Given the description of an element on the screen output the (x, y) to click on. 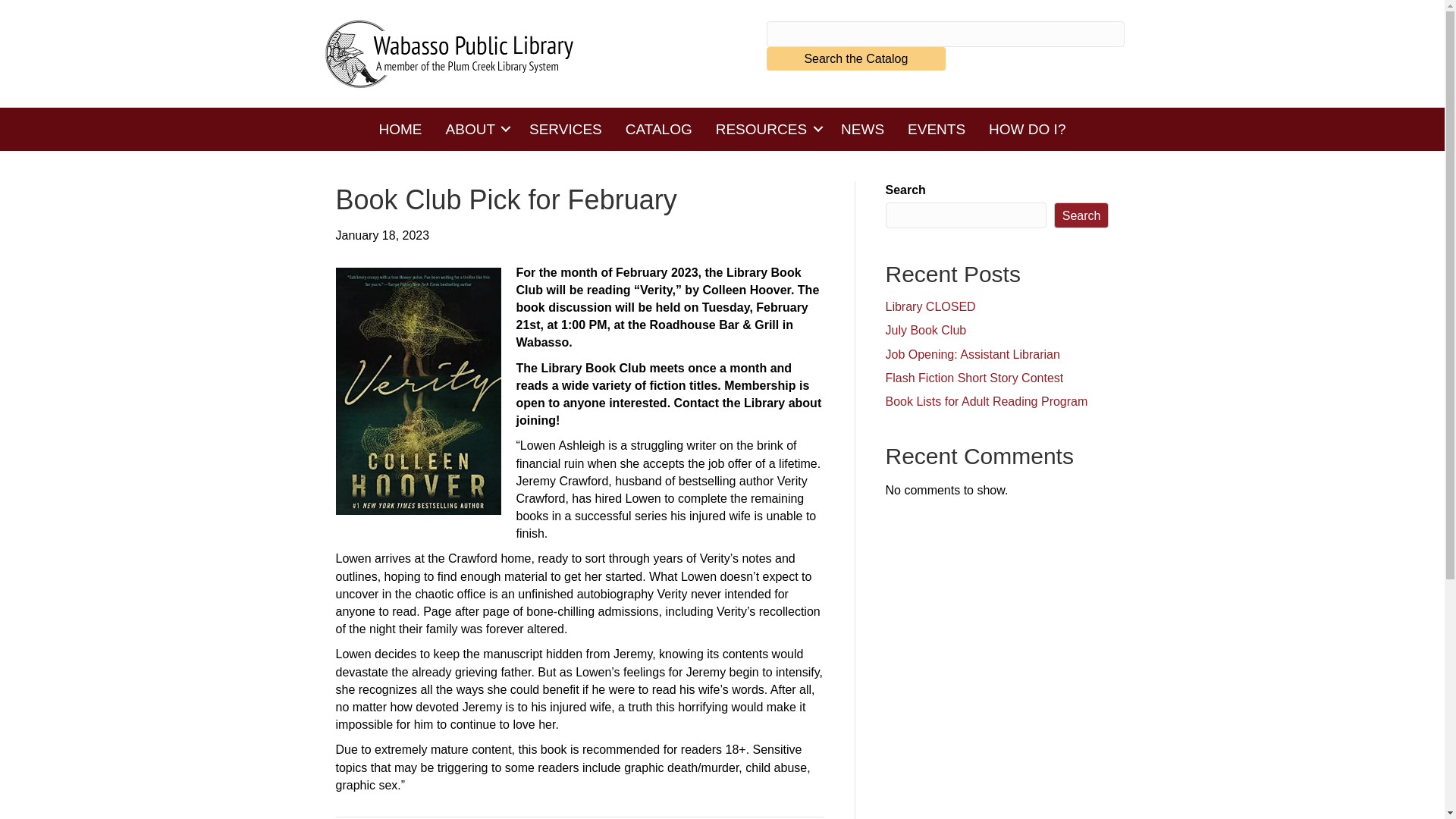
Library CLOSED (930, 306)
CATALOG (658, 128)
SERVICES (565, 128)
ABOUT (474, 128)
Search the Catalog (855, 58)
NEWS (862, 128)
Search the Catalog (855, 58)
Book Lists for Adult Reading Program (986, 400)
HOW DO I? (1026, 128)
EVENTS (936, 128)
HOME (400, 128)
Search (1081, 215)
July Book Club (925, 329)
RESOURCES (766, 128)
